Given the description of an element on the screen output the (x, y) to click on. 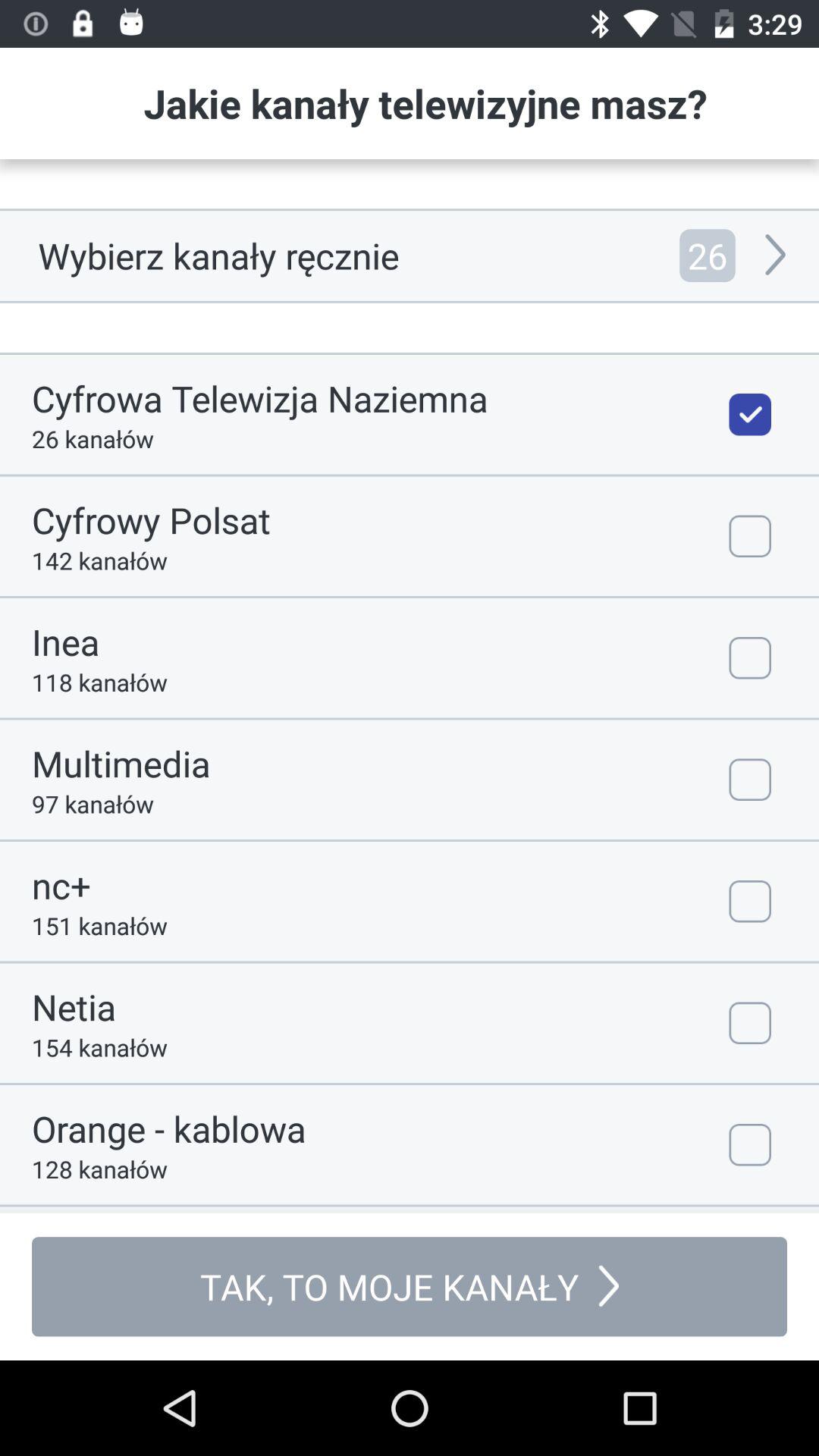
select the right arrow on the top right beside the number 26 (776, 256)
